Given the description of an element on the screen output the (x, y) to click on. 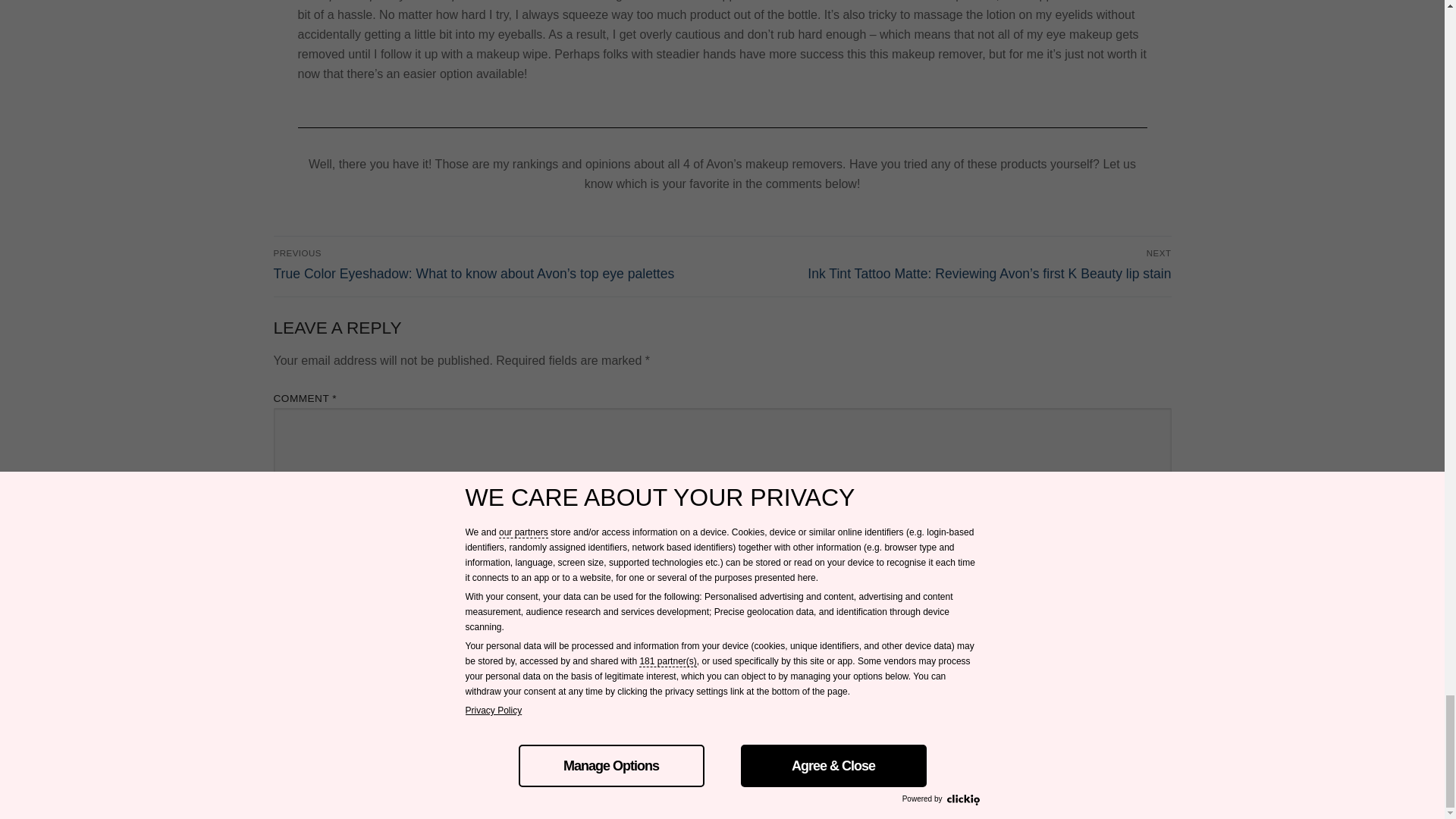
Post Comment (338, 690)
Customify (751, 790)
Post Comment (338, 690)
